Given the description of an element on the screen output the (x, y) to click on. 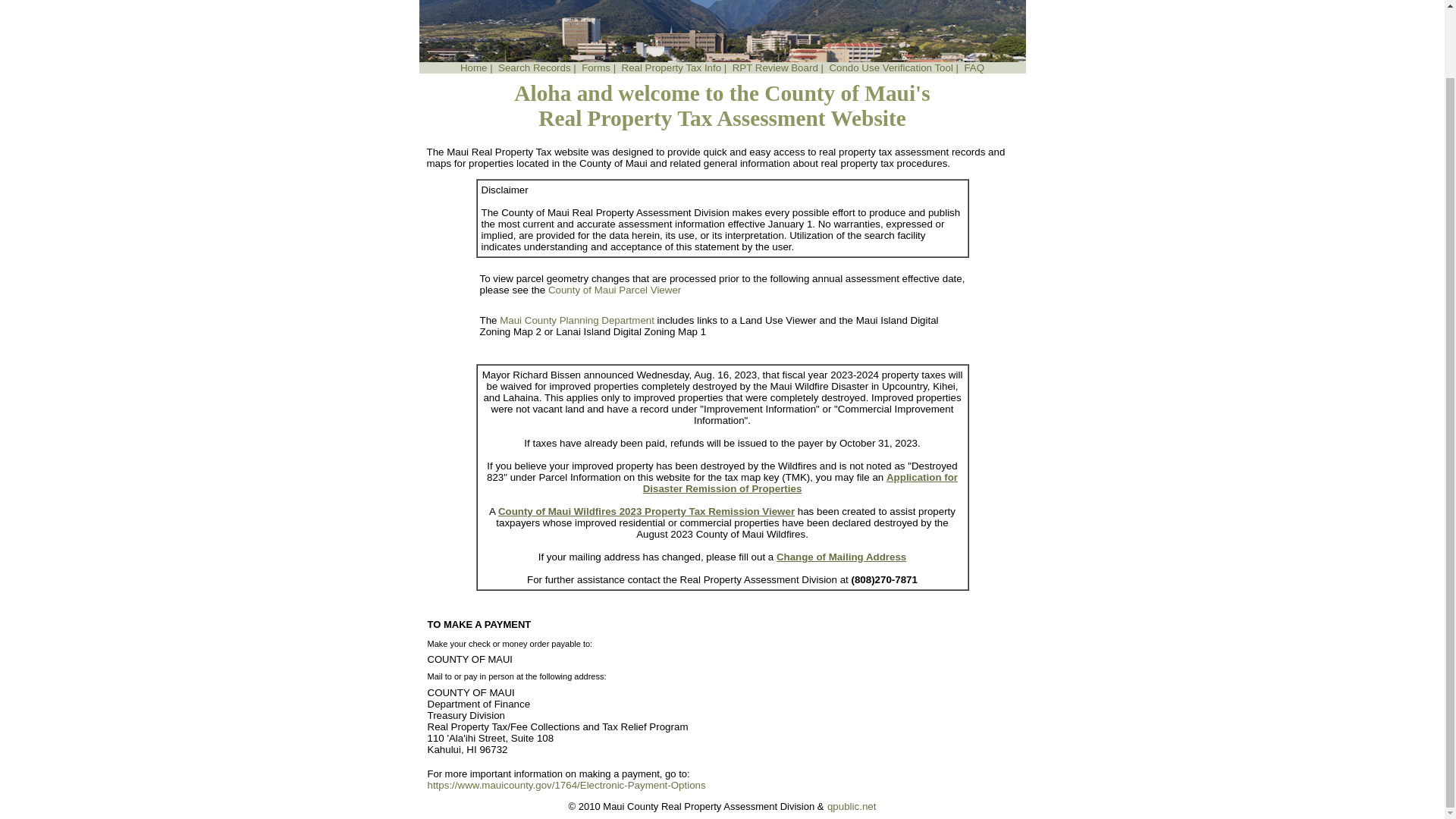
Application for Disaster Remission of Properties (800, 482)
qpublic.net (851, 806)
Forms (595, 67)
Maui County Planning Department (576, 319)
Home (473, 67)
County of Maui Wildfires 2023 Property Tax Remission Viewer (645, 511)
Search Records (533, 67)
County of Maui Parcel Viewer (614, 289)
RPT Review Board (775, 67)
FAQ (973, 67)
